Given the description of an element on the screen output the (x, y) to click on. 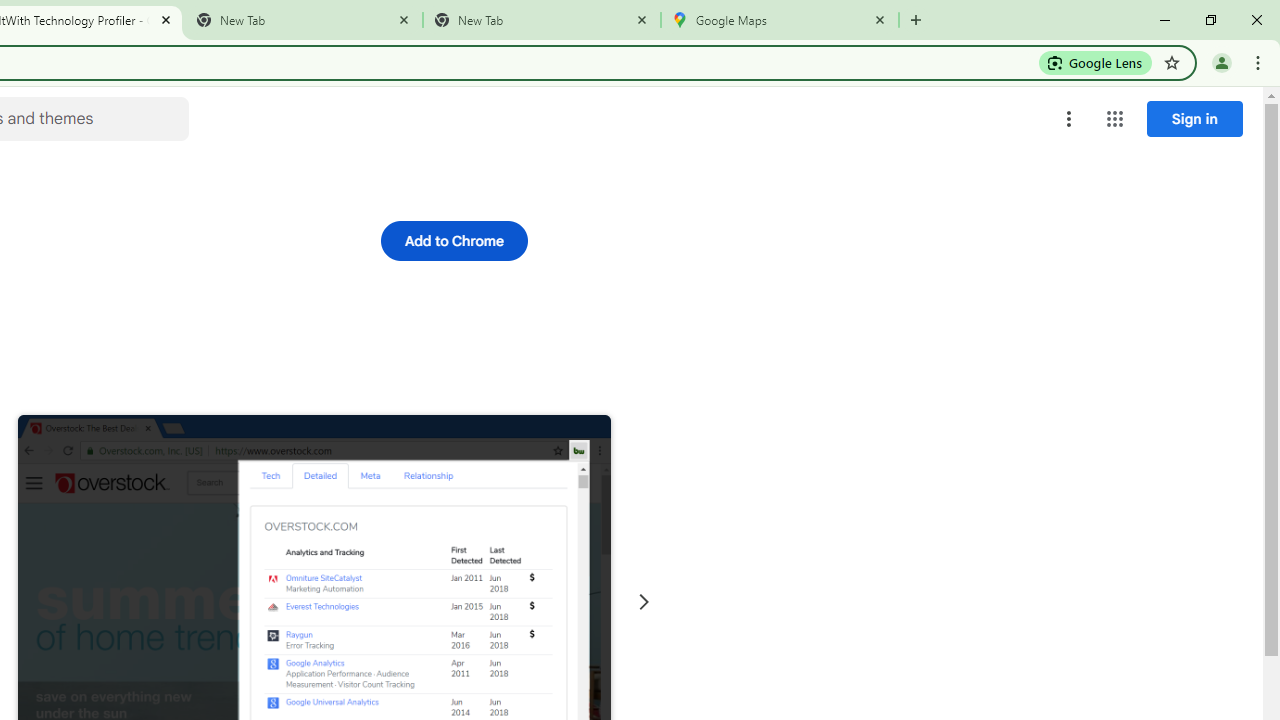
Google Maps (779, 20)
New Tab (541, 20)
Restore (1210, 20)
Close (879, 19)
Search with Google Lens (1095, 62)
Minimize (1165, 20)
Next slide (643, 601)
Sign in (1194, 118)
Bookmark this tab (1171, 62)
You (1221, 62)
Add to Chrome (453, 240)
Chrome (1260, 62)
New Tab (916, 20)
Google apps (1114, 118)
